Given the description of an element on the screen output the (x, y) to click on. 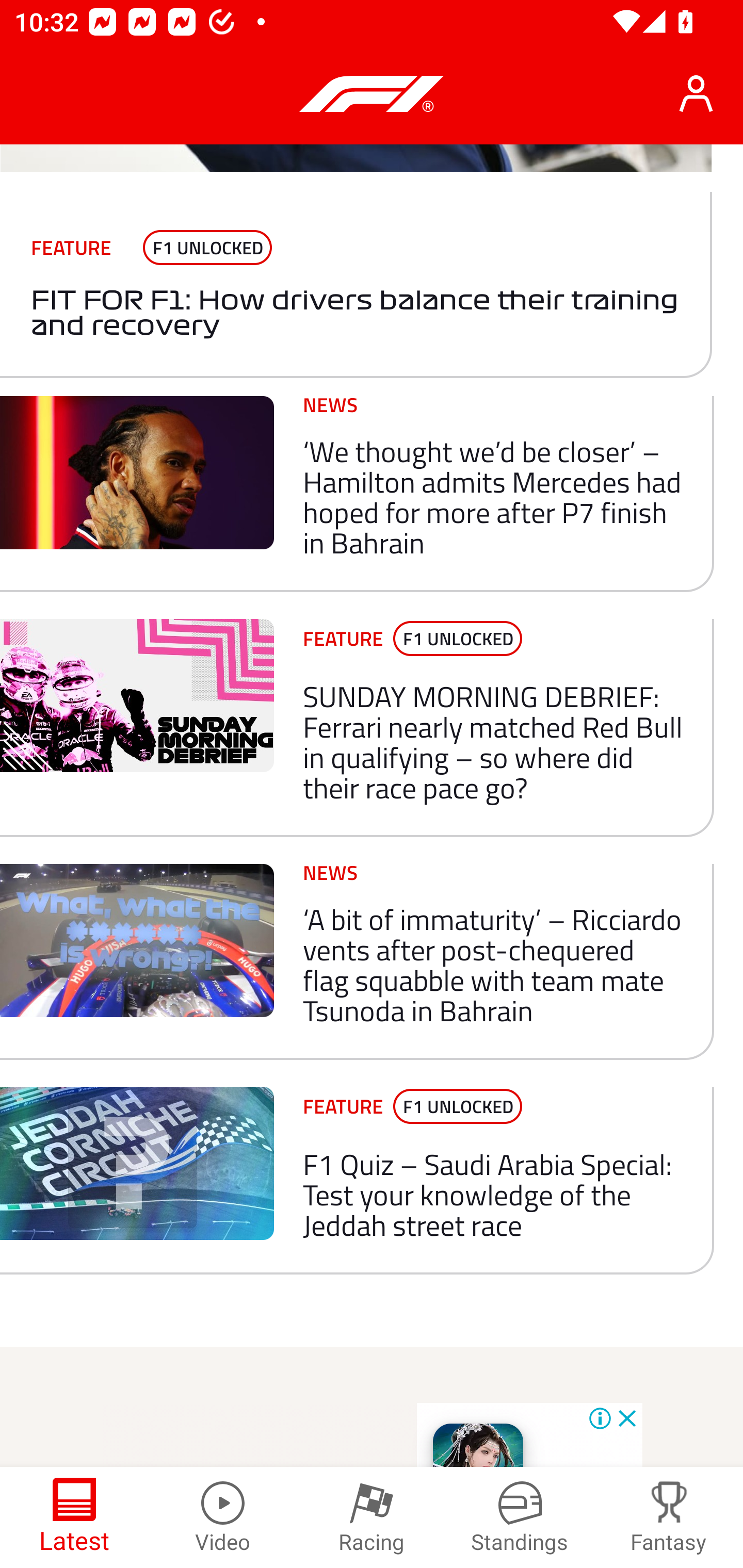
Video (222, 1517)
Racing (371, 1517)
Standings (519, 1517)
Fantasy (668, 1517)
